Given the description of an element on the screen output the (x, y) to click on. 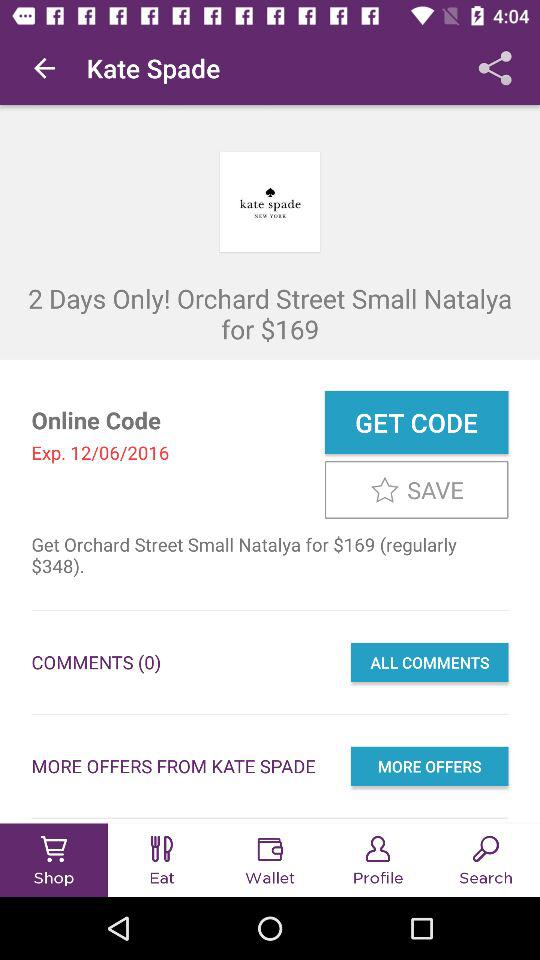
swipe to the all comments item (429, 662)
